Given the description of an element on the screen output the (x, y) to click on. 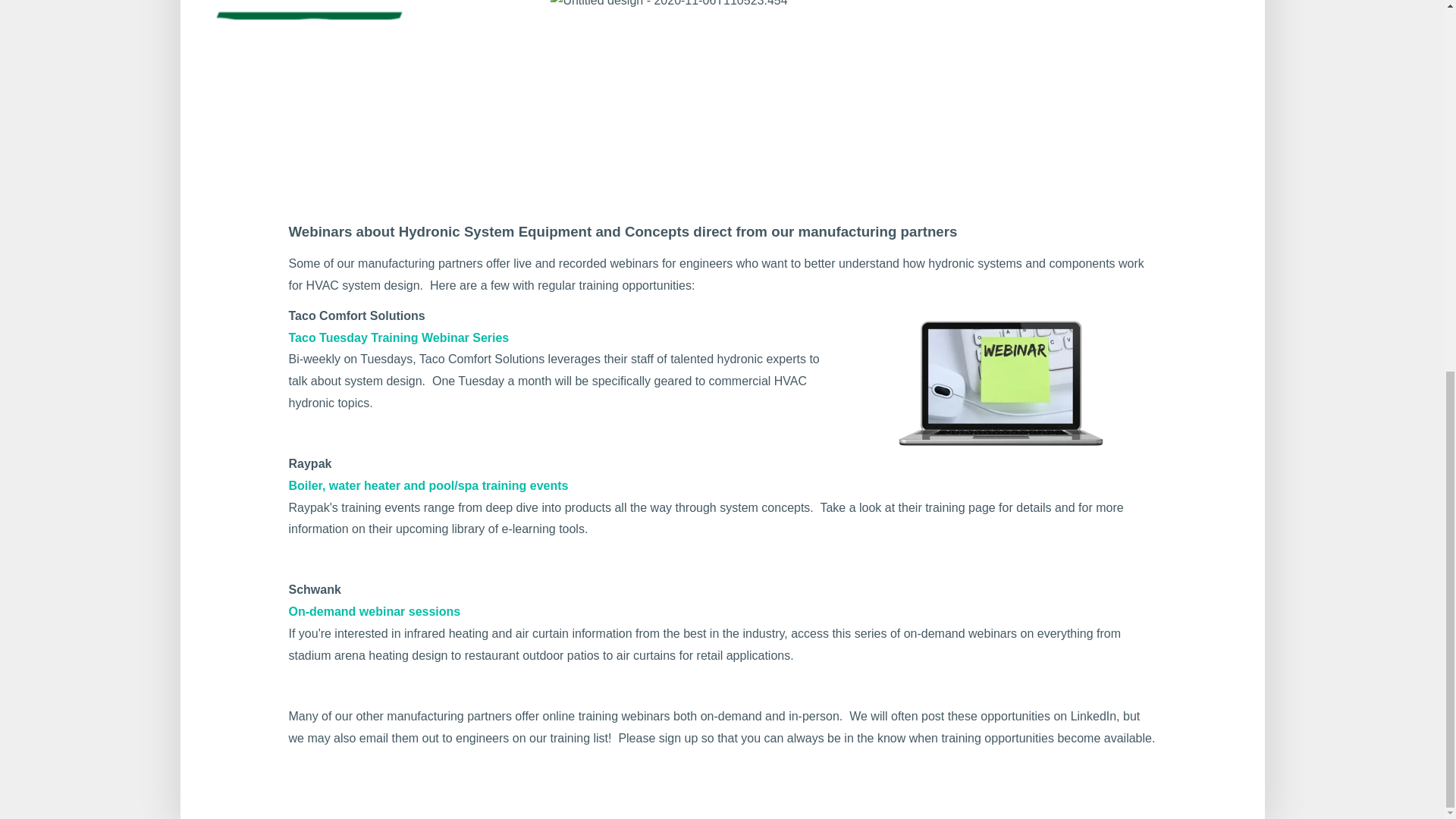
Untitled design - 2020-11-06T110523.454 (668, 6)
Taco Tuesday Training Webinar Series (398, 337)
On-demand webinar sessions (374, 611)
Untitled design - 2020-11-06T110535.734 (351, 74)
